Given the description of an element on the screen output the (x, y) to click on. 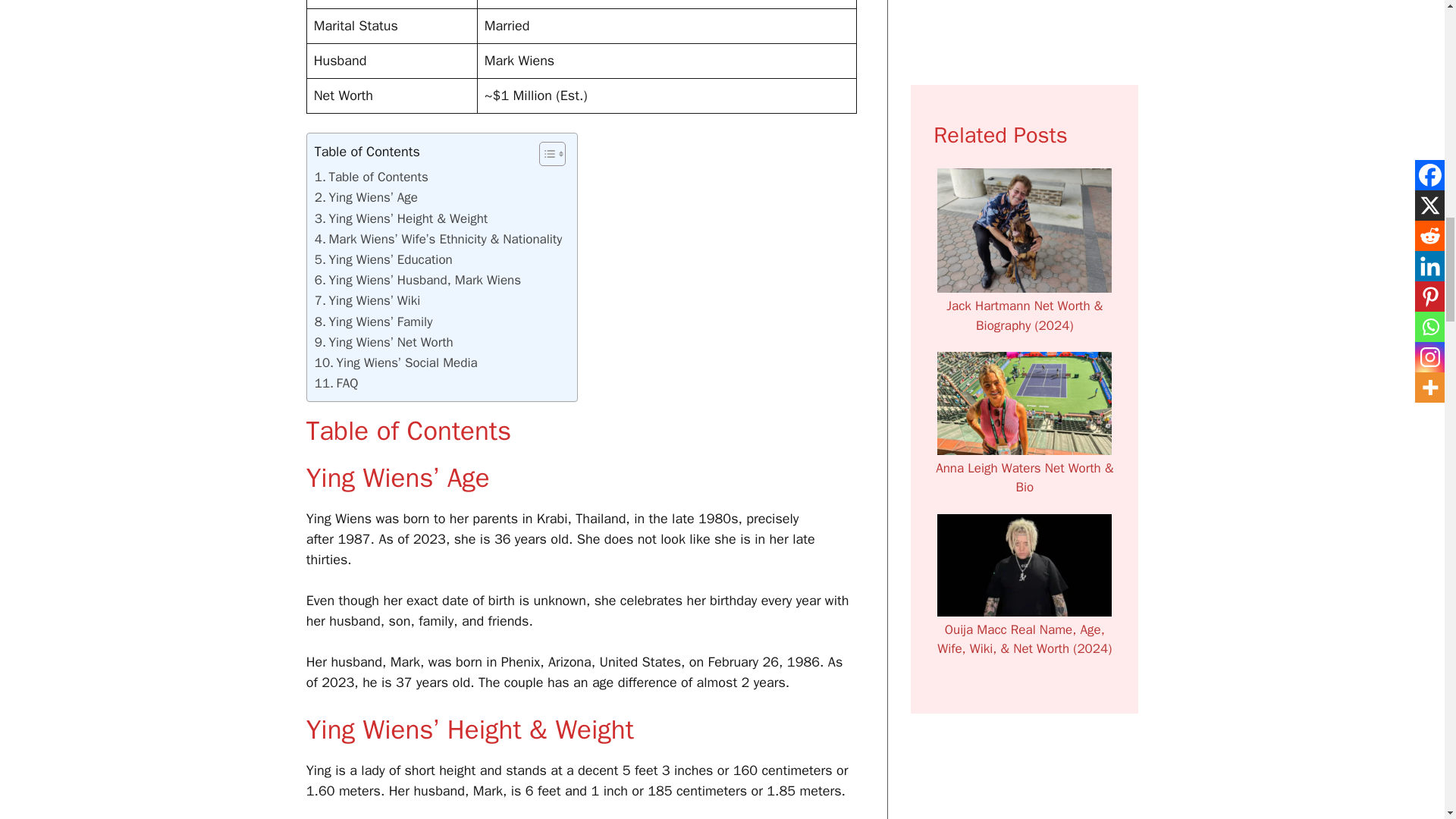
Table of Contents (371, 177)
Table of Contents (371, 177)
